Given the description of an element on the screen output the (x, y) to click on. 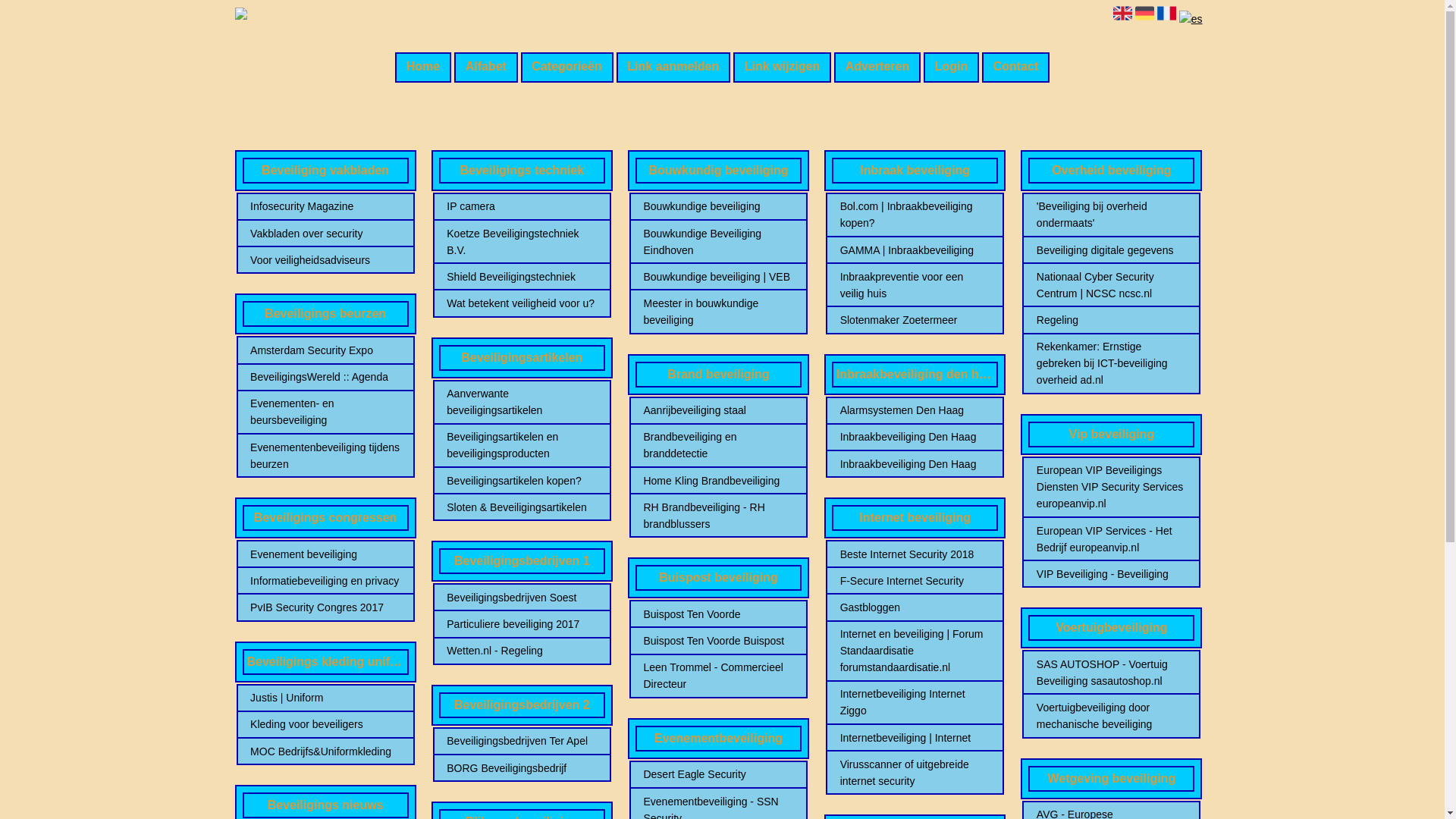
Aanrijbeveiliging staal Element type: text (718, 409)
PvIB Security Congres 2017 Element type: text (325, 607)
Beveiligingsbedrijven Soest Element type: text (521, 597)
RH Brandbeveiliging - RH brandblussers Element type: text (718, 515)
BORG Beveiligingsbedrijf Element type: text (521, 767)
European VIP Services - Het Bedrijf europeanvip.nl Element type: text (1111, 538)
F-Secure Internet Security Element type: text (915, 580)
Evenementenbeveiliging tijdens beurzen Element type: text (325, 455)
Link wijzigen Element type: text (782, 67)
Particuliere beveiliging 2017 Element type: text (521, 623)
Gastbloggen Element type: text (915, 607)
Buispost Ten Voorde Element type: text (718, 613)
Alarmsystemen Den Haag Element type: text (915, 409)
Nationaal Cyber Security Centrum | NCSC ncsc.nl Element type: text (1111, 284)
Sloten & Beveiligingsartikelen Element type: text (521, 506)
Kleding voor beveiligers Element type: text (325, 723)
Login Element type: text (951, 67)
'Beveiliging bij overheid ondermaats' Element type: text (1111, 214)
Beste Internet Security 2018 Element type: text (915, 554)
GAMMA | Inbraakbeveiliging Element type: text (915, 249)
Wetten.nl - Regeling Element type: text (521, 650)
Link aanmelden Element type: text (672, 67)
Virusscanner of uitgebreide internet security Element type: text (915, 772)
Shield Beveiligingstechniek Element type: text (521, 276)
Inbraakbeveiliging Den Haag Element type: text (915, 463)
Slotenmaker Zoetermeer Element type: text (915, 319)
BeveiligingsWereld :: Agenda Element type: text (325, 376)
Justis | Uniform Element type: text (325, 697)
Vakbladen over security Element type: text (325, 233)
Internetbeveiliging Internet Ziggo Element type: text (915, 701)
Home Element type: text (423, 67)
Voertuigbeveiliging door mechanische beveiliging Element type: text (1111, 715)
Meester in bouwkundige beveiliging Element type: text (718, 311)
Alfabet Element type: text (485, 67)
MOC Bedrijfs&Uniformkleding Element type: text (325, 751)
VIP Beveiliging - Beveiliging Element type: text (1111, 573)
Contact Element type: text (1015, 67)
Inbraakpreventie voor een veilig huis Element type: text (915, 284)
Internetbeveiliging | Internet Element type: text (915, 737)
Bouwkundige beveiliging | VEB Element type: text (718, 276)
Voor veiligheidsadviseurs Element type: text (325, 259)
IP camera Element type: text (521, 205)
Brandbeveiliging en branddetectie Element type: text (718, 444)
Regeling Element type: text (1111, 319)
Amsterdam Security Expo Element type: text (325, 350)
Informatiebeveiliging en privacy Element type: text (325, 580)
Wat betekent veiligheid voor u? Element type: text (521, 302)
Inbraakbeveiliging Den Haag Element type: text (915, 436)
Beveiliging digitale gegevens Element type: text (1111, 249)
Evenementen- en beursbeveiliging Element type: text (325, 411)
Bouwkundige Beveiliging Eindhoven Element type: text (718, 241)
Adverteren Element type: text (877, 67)
Beveiligingsbedrijven Ter Apel Element type: text (521, 740)
Leen Trommel - Commercieel Directeur Element type: text (718, 675)
Buispost Ten Voorde Buispost Element type: text (718, 640)
Home Kling Brandbeveiliging Element type: text (718, 480)
Koetze Beveiligingstechniek B.V. Element type: text (521, 241)
Beveiligingsartikelen kopen? Element type: text (521, 480)
Bouwkundige beveiliging Element type: text (718, 205)
Infosecurity Magazine Element type: text (325, 205)
Desert Eagle Security Element type: text (718, 773)
Beveiligingsartikelen en beveiligingsproducten Element type: text (521, 444)
Bol.com | Inbraakbeveiliging kopen? Element type: text (915, 214)
SAS AUTOSHOP - Voertuig Beveiliging sasautoshop.nl Element type: text (1111, 672)
Aanverwante beveiligingsartikelen Element type: text (521, 401)
Evenement beveiliging Element type: text (325, 554)
